Given the description of an element on the screen output the (x, y) to click on. 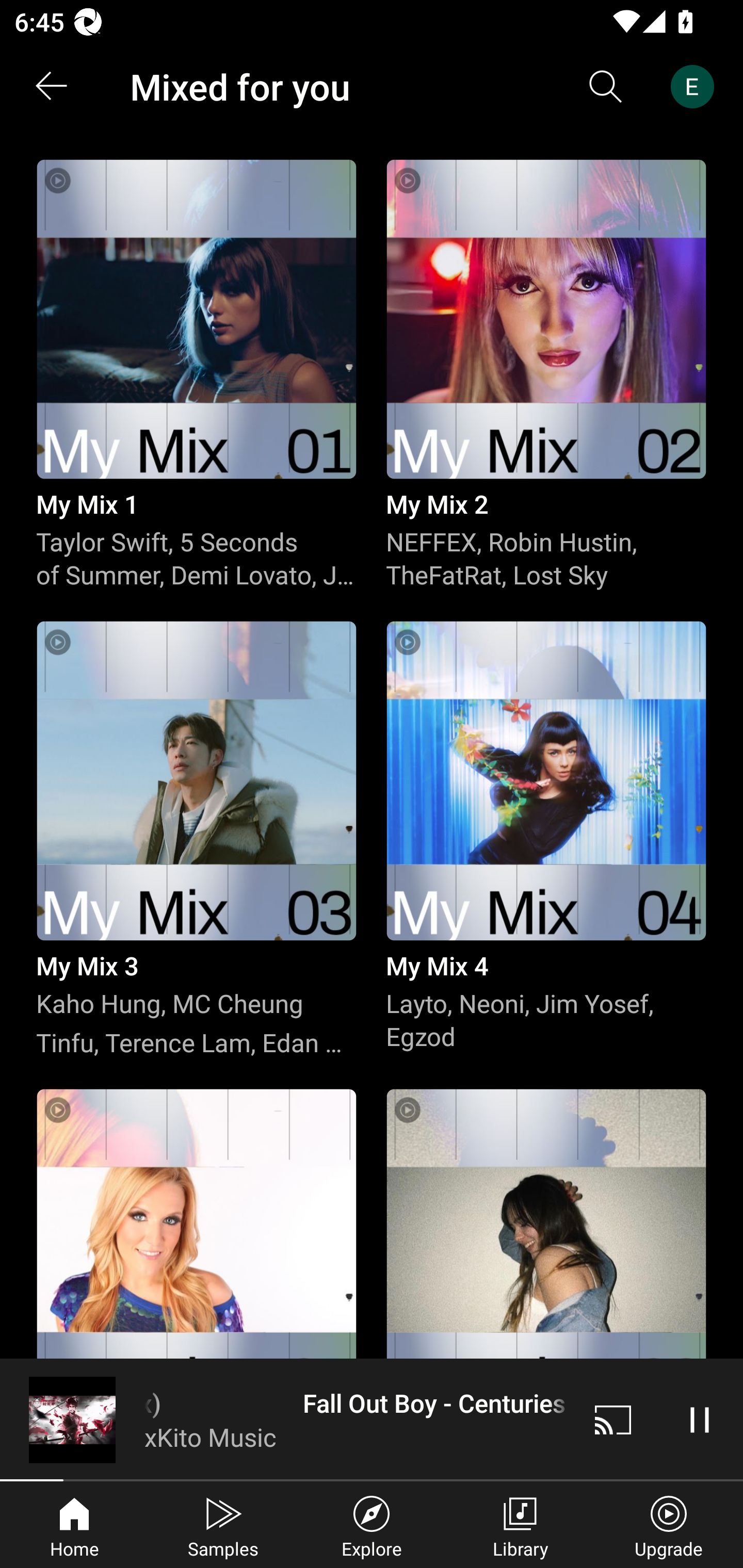
Back (50, 86)
Search (605, 86)
Account (696, 86)
Fall Out Boy - Centuries (LEXIM Remix) xKito Music (284, 1419)
Cast. Disconnected (612, 1419)
Pause video (699, 1419)
Home (74, 1524)
Samples (222, 1524)
Explore (371, 1524)
Library (519, 1524)
Upgrade (668, 1524)
